Given the description of an element on the screen output the (x, y) to click on. 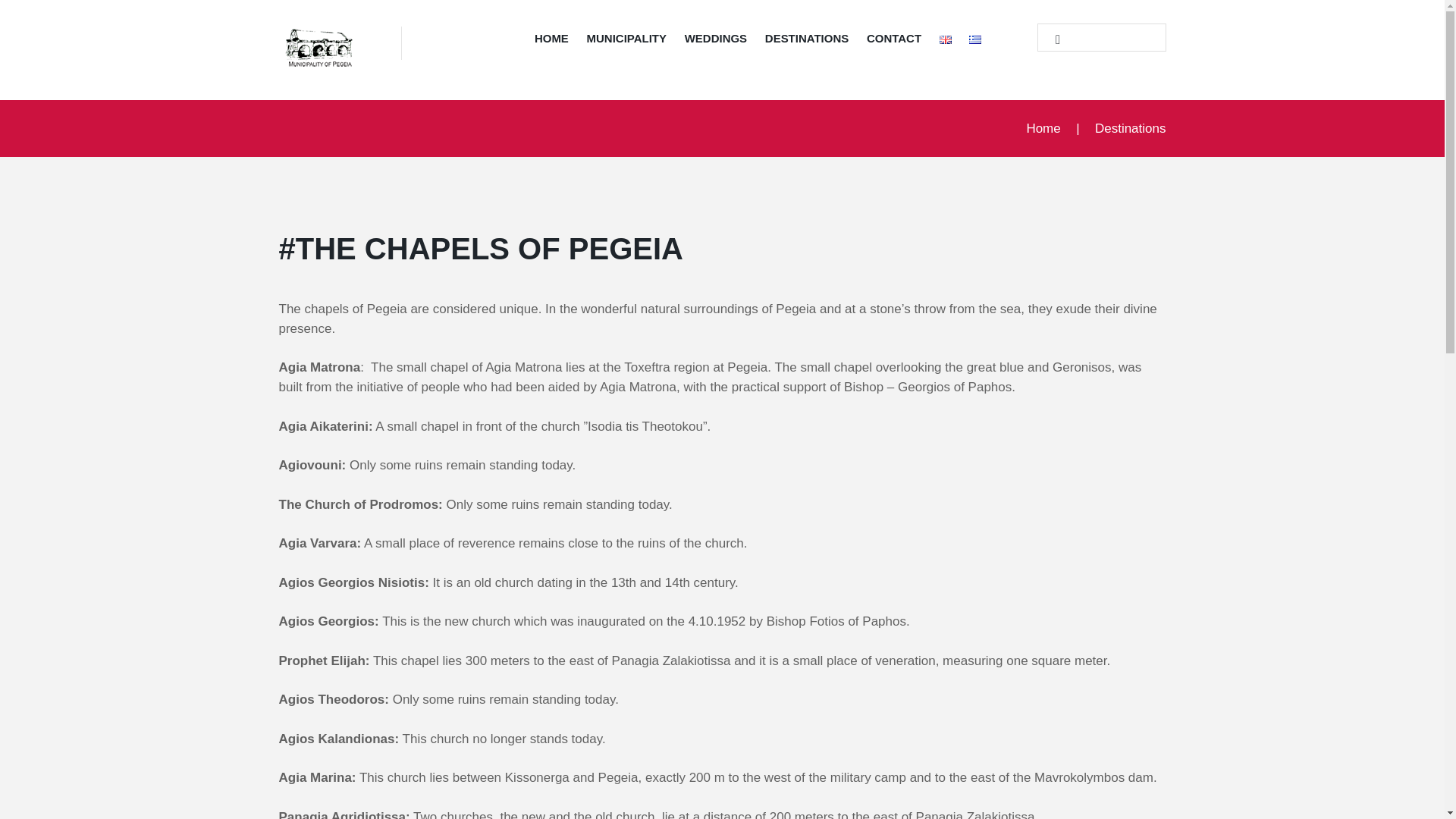
WEDDINGS (715, 40)
English (945, 40)
Start search (1051, 39)
MUNICIPALITY (626, 40)
